Given the description of an element on the screen output the (x, y) to click on. 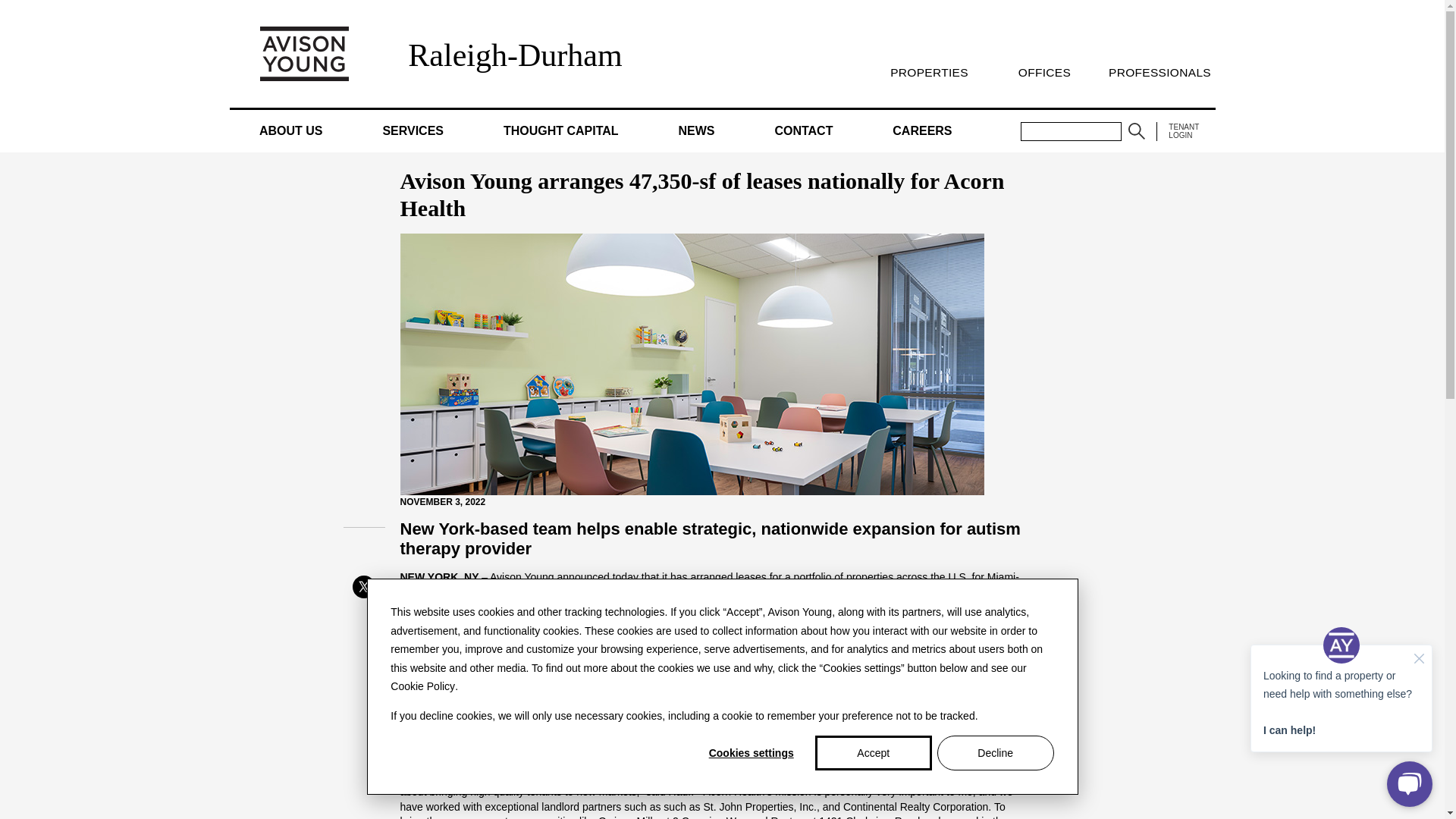
OFFICES (1043, 72)
Raleigh-Durham (514, 54)
PROPERTIES (928, 72)
Skip to Main Content (5, 5)
